Given the description of an element on the screen output the (x, y) to click on. 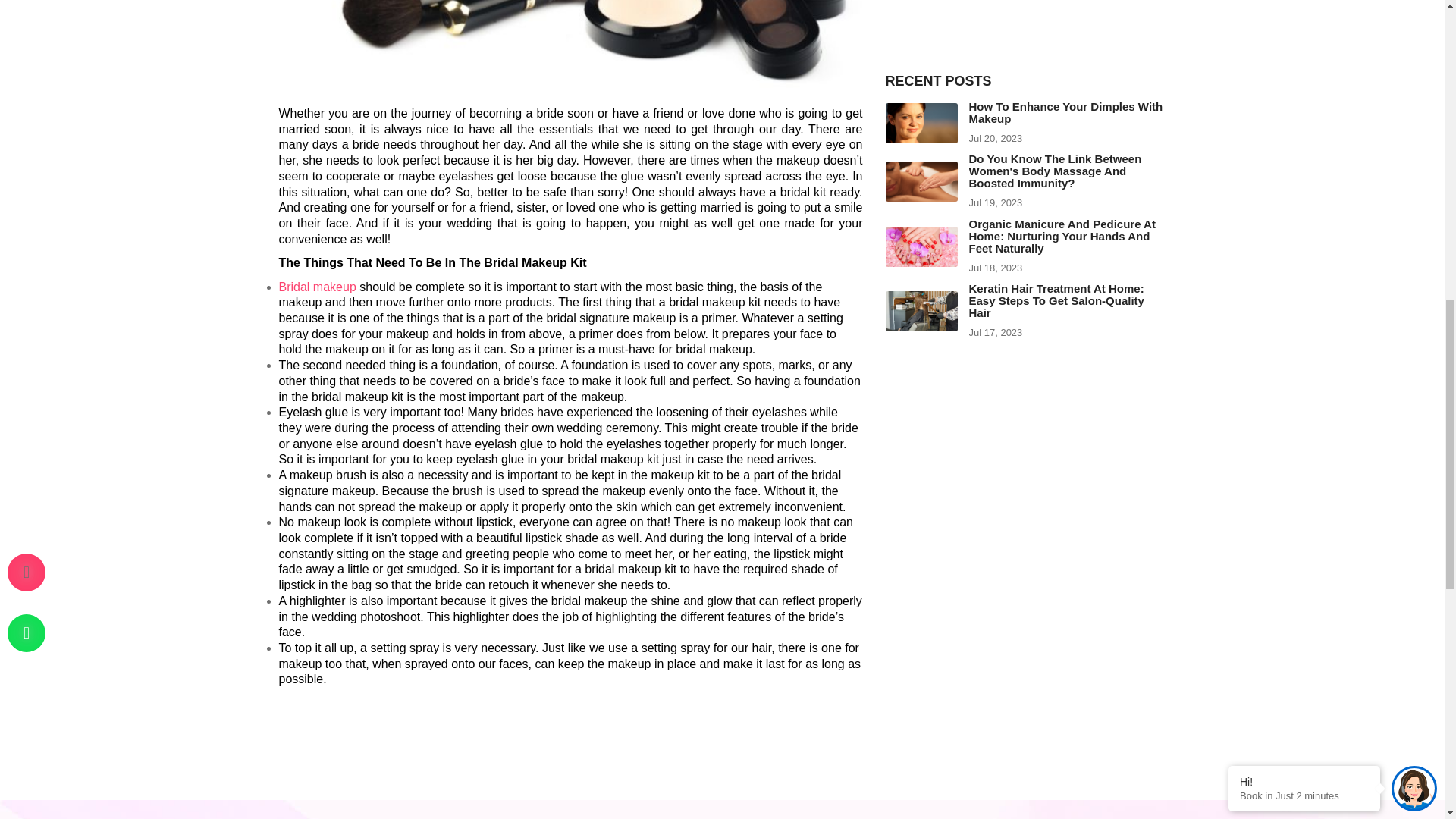
Bridal makeup (317, 286)
